Given the description of an element on the screen output the (x, y) to click on. 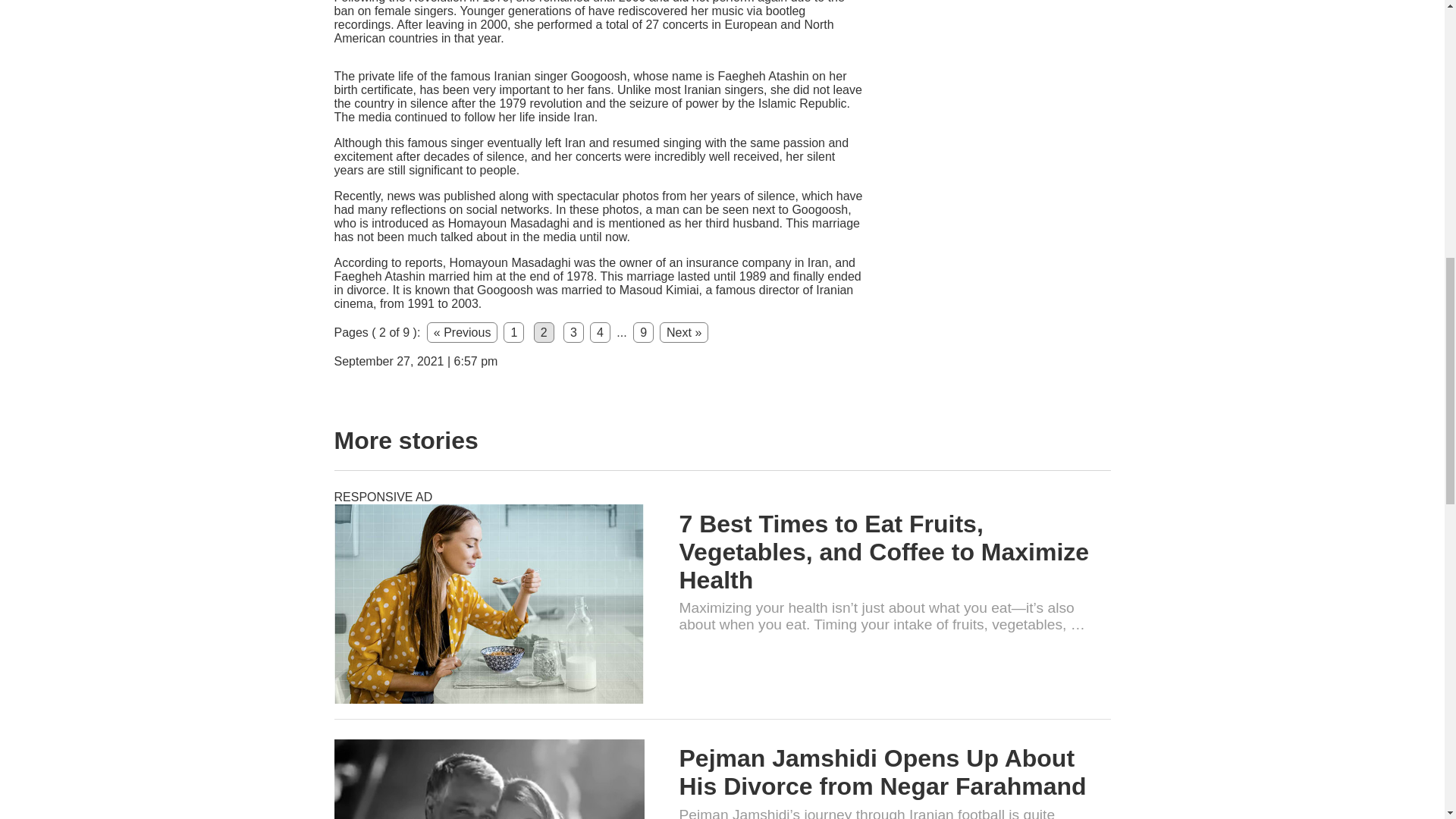
3 (573, 332)
1 (513, 332)
4 (599, 332)
9 (643, 332)
